Given the description of an element on the screen output the (x, y) to click on. 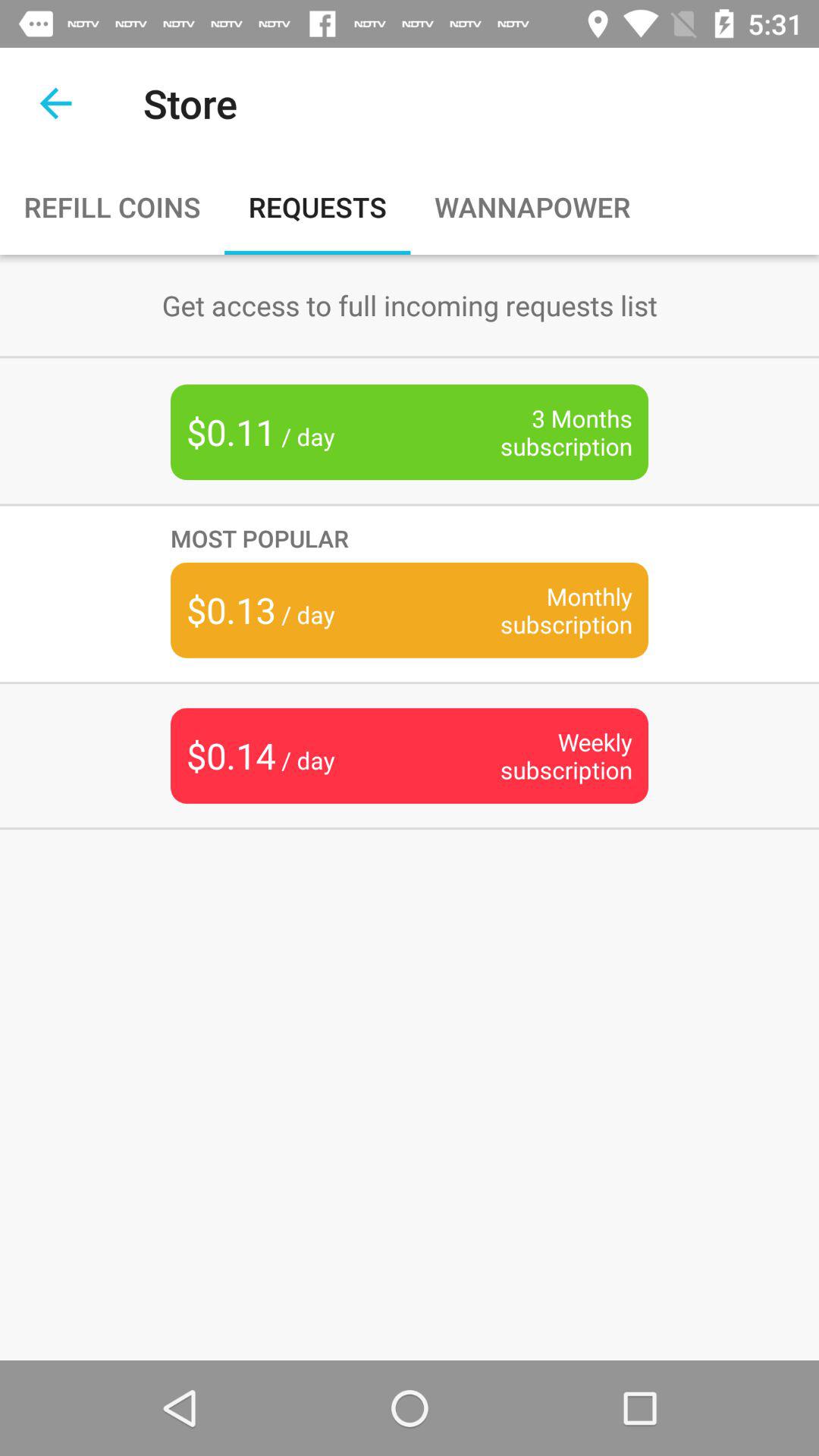
launch item below get access to item (543, 432)
